Given the description of an element on the screen output the (x, y) to click on. 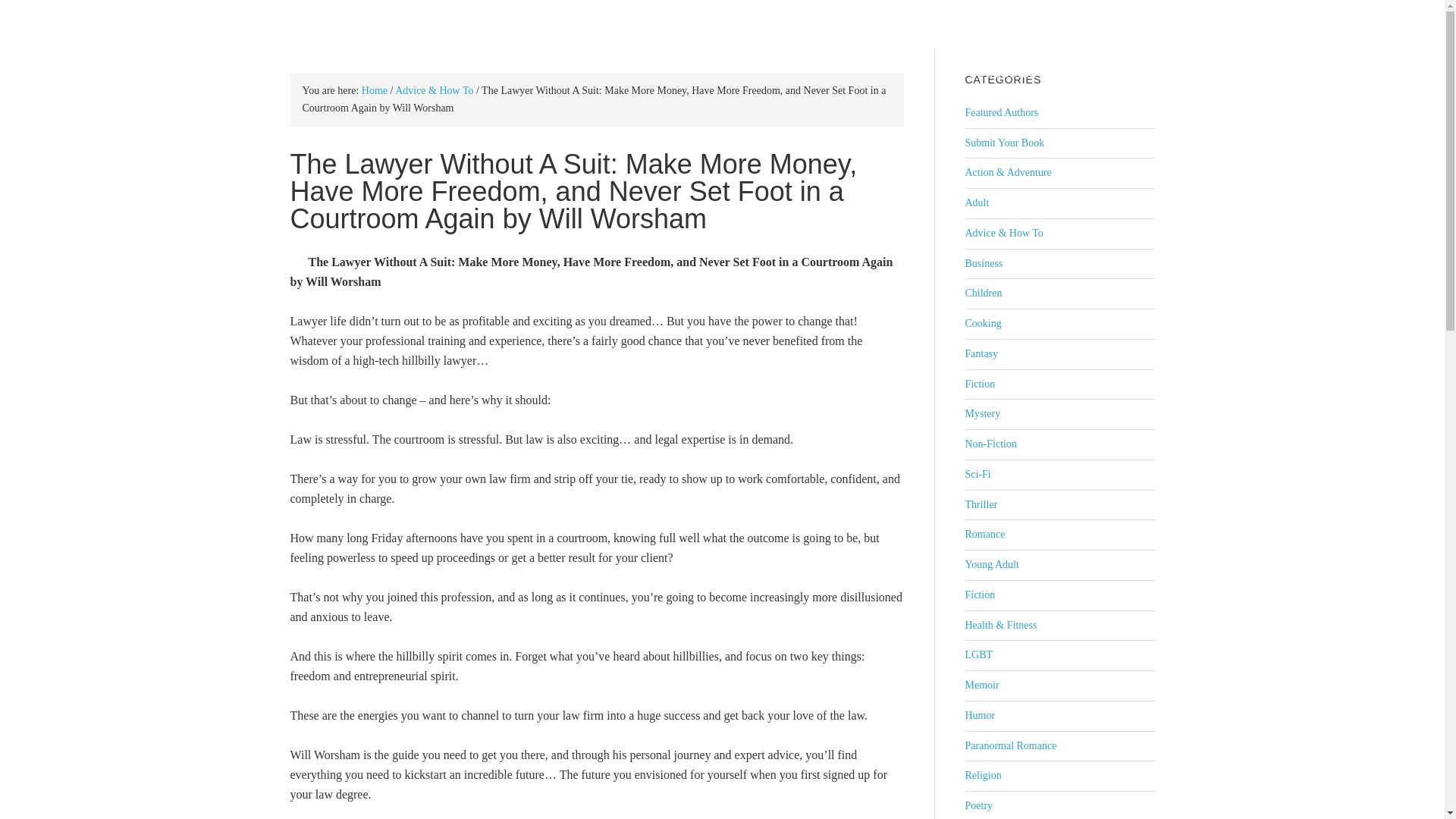
Young Adult (990, 564)
SUBSCRIBE TO NEWSLETTER (1054, 73)
BOOK READER MAGAZINE (362, 33)
Romance (983, 533)
Fiction (978, 594)
Non-Fiction (989, 443)
Business (983, 263)
Featured Authors (1000, 112)
Home (374, 90)
Fantasy (980, 353)
Submit Your Book (1003, 142)
SUBMIT AN AUTHOR INTERVIEW (1048, 24)
Sci-Fi (976, 473)
FEATURED BOOKS (719, 24)
Thriller (980, 504)
